Given the description of an element on the screen output the (x, y) to click on. 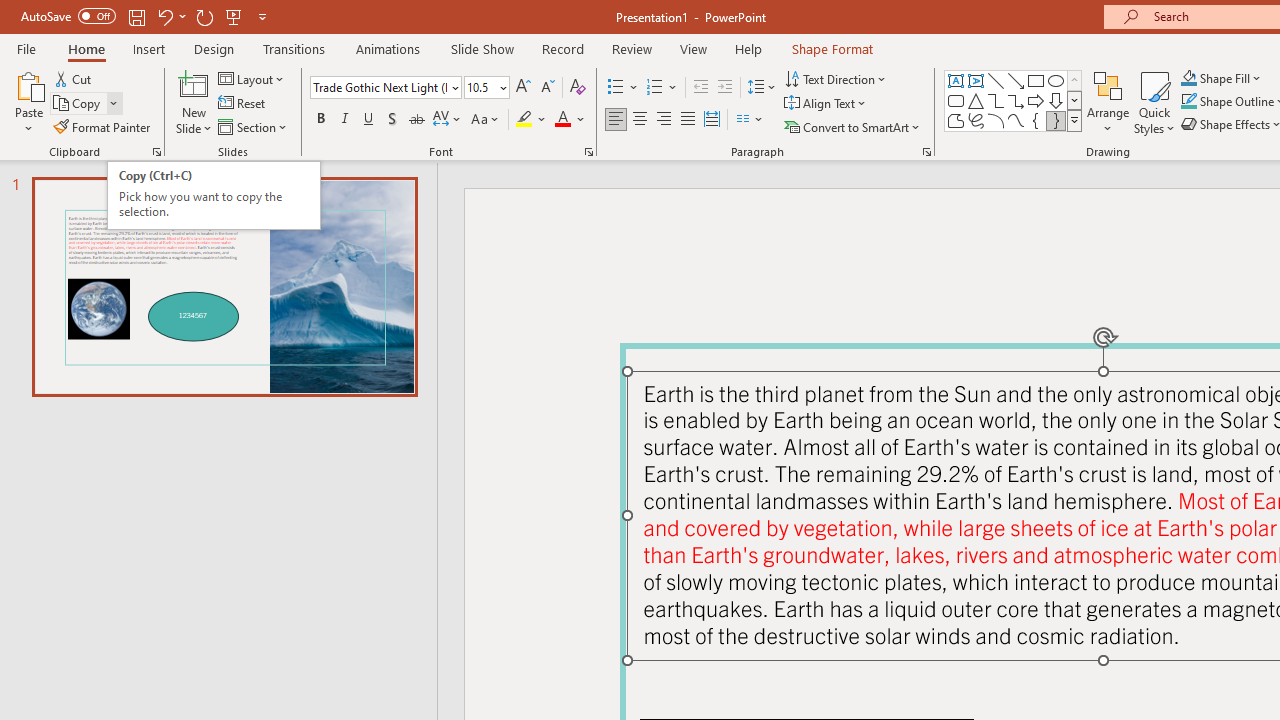
Shape Outline Teal, Accent 1 (1188, 101)
